Given the description of an element on the screen output the (x, y) to click on. 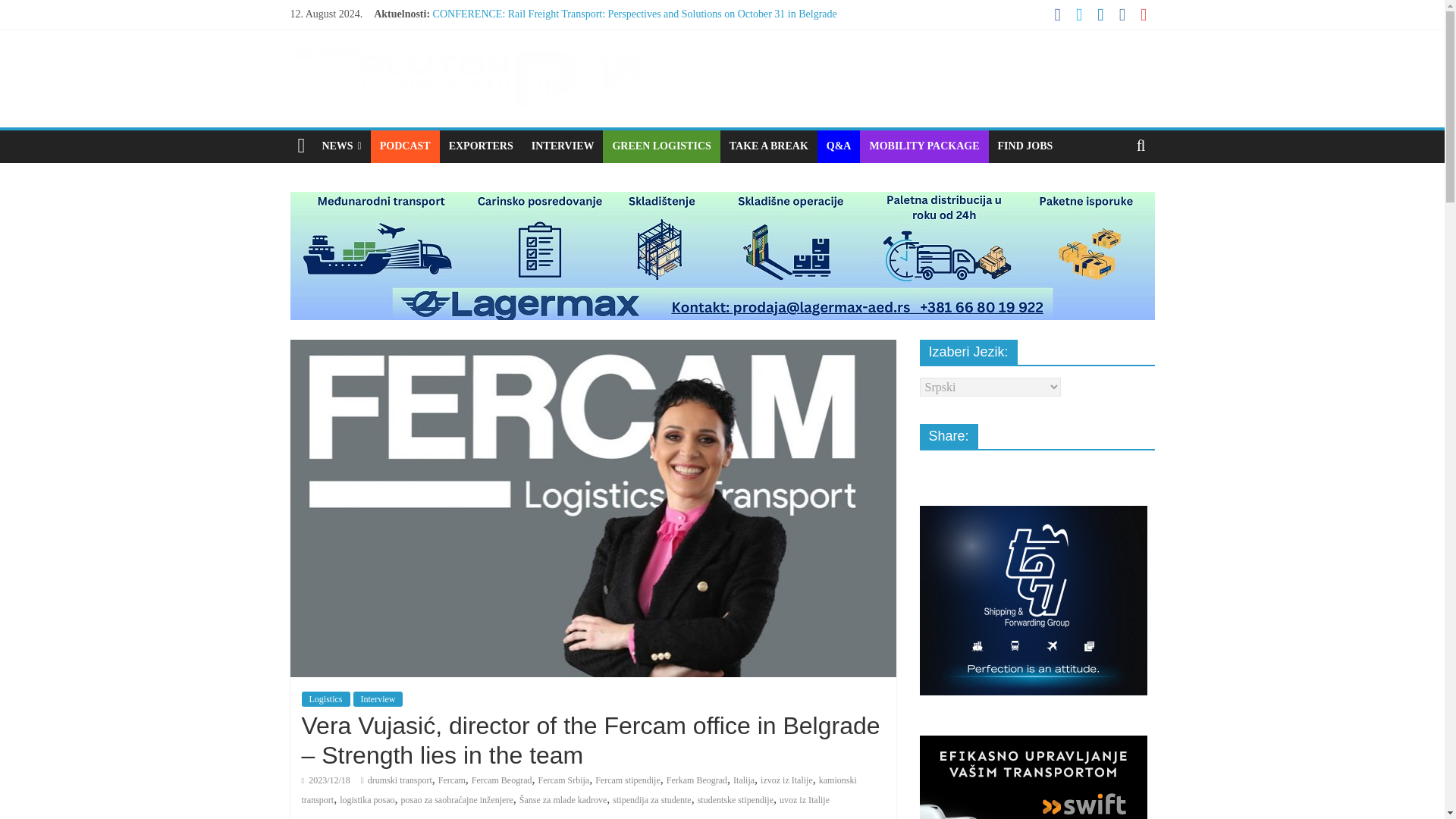
Fercam Srbija (563, 779)
TAKE A BREAK (768, 146)
EXPORTERS (480, 146)
Fercam Beograd (501, 779)
Interview (378, 698)
Fercam (451, 779)
drumski transport (400, 779)
FIND JOBS (1025, 146)
